Given the description of an element on the screen output the (x, y) to click on. 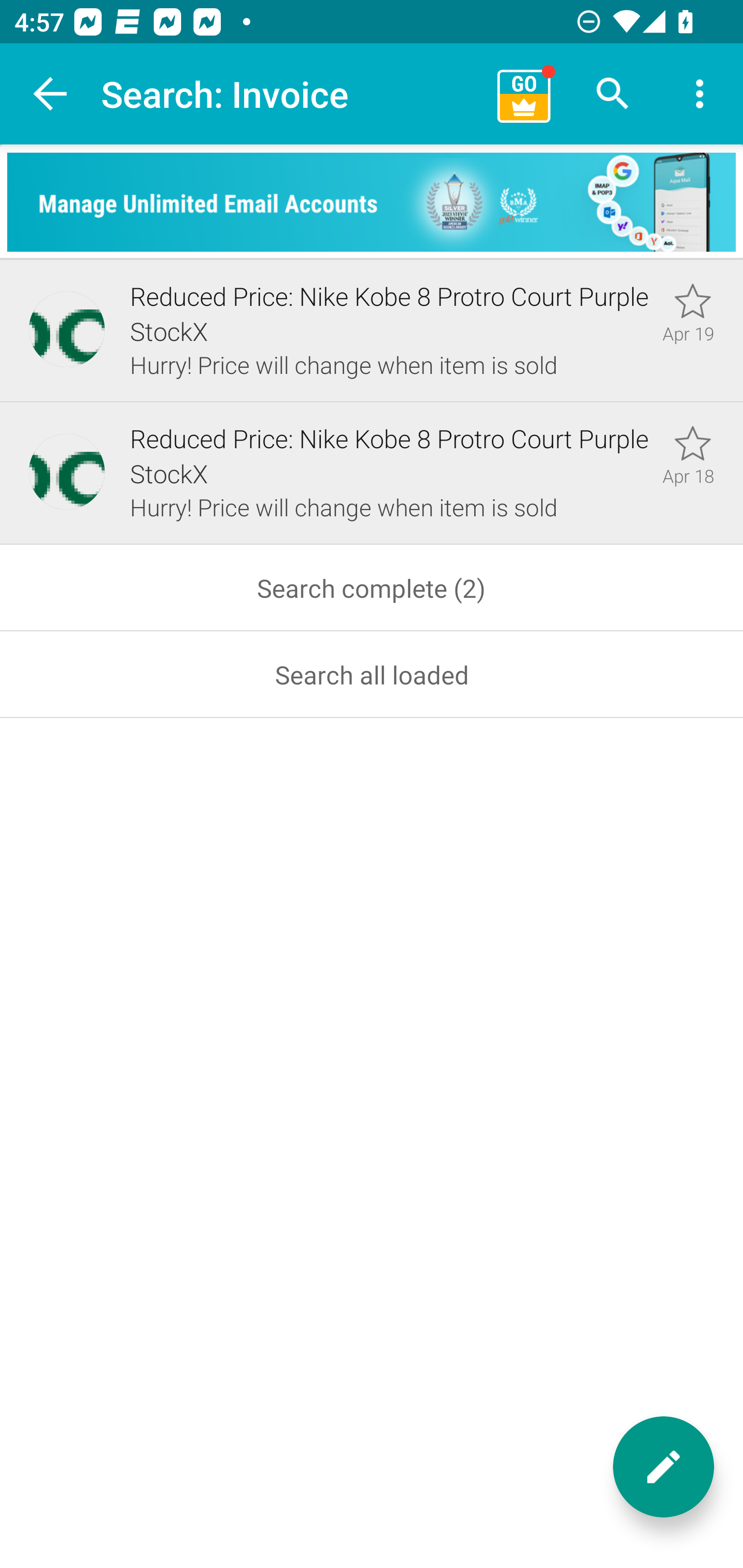
Navigate up (50, 93)
Search (612, 93)
More options (699, 93)
Search complete (2) (371, 587)
Search all loaded (371, 674)
New message (663, 1466)
